Given the description of an element on the screen output the (x, y) to click on. 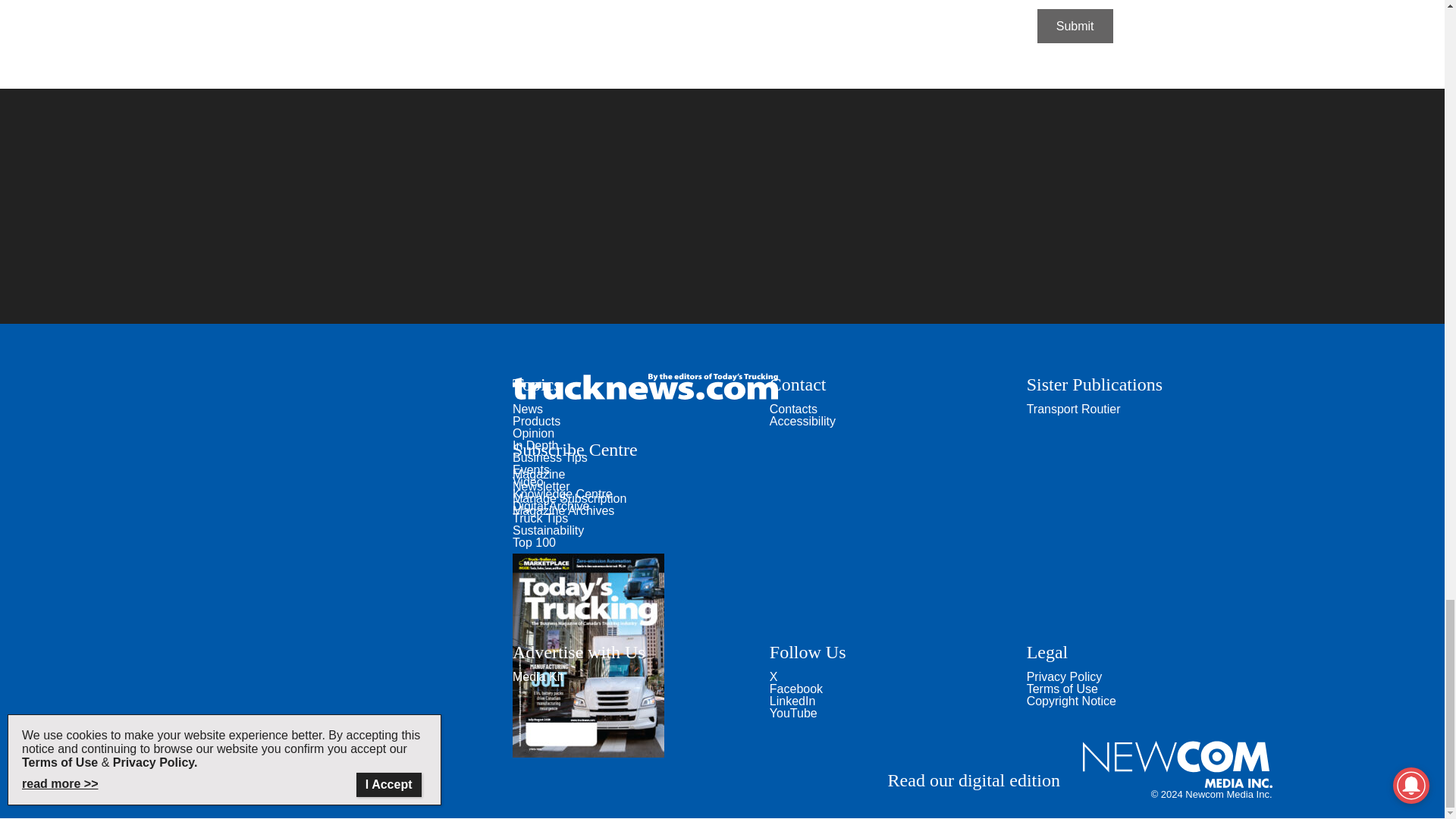
3rd party ad content (741, 6)
Submit (1074, 26)
